Given the description of an element on the screen output the (x, y) to click on. 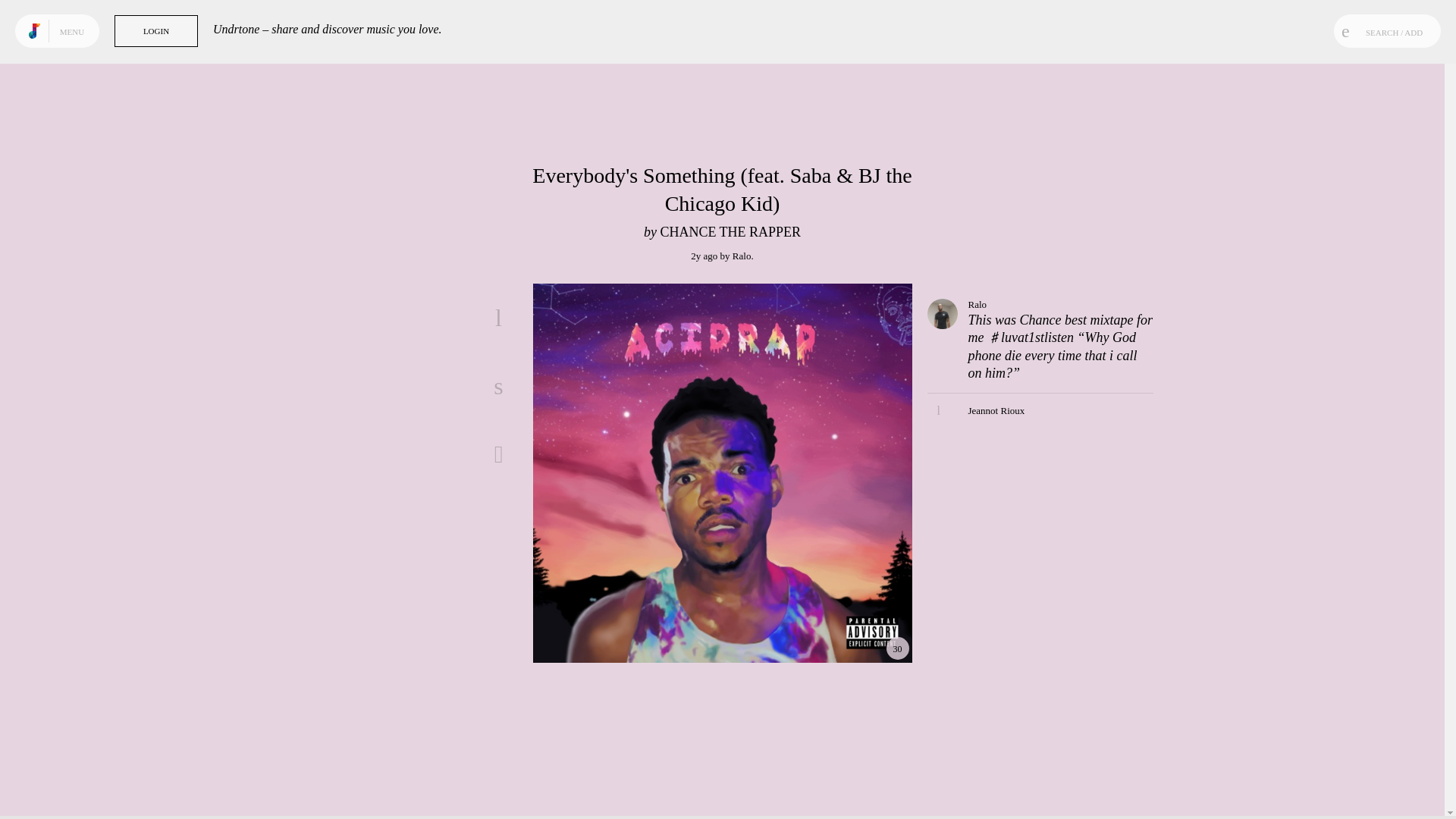
Terms of Service (93, 785)
Contact (67, 785)
Ralo (977, 304)
Repost (498, 454)
FAQs (55, 797)
Legal (93, 785)
Login (418, 227)
Tags (68, 68)
Jeannot Rioux (996, 410)
Trending Tracks (68, 40)
MENU (74, 30)
Ralo (741, 255)
Create Account (394, 684)
Press (41, 785)
LOGIN (156, 30)
